Given the description of an element on the screen output the (x, y) to click on. 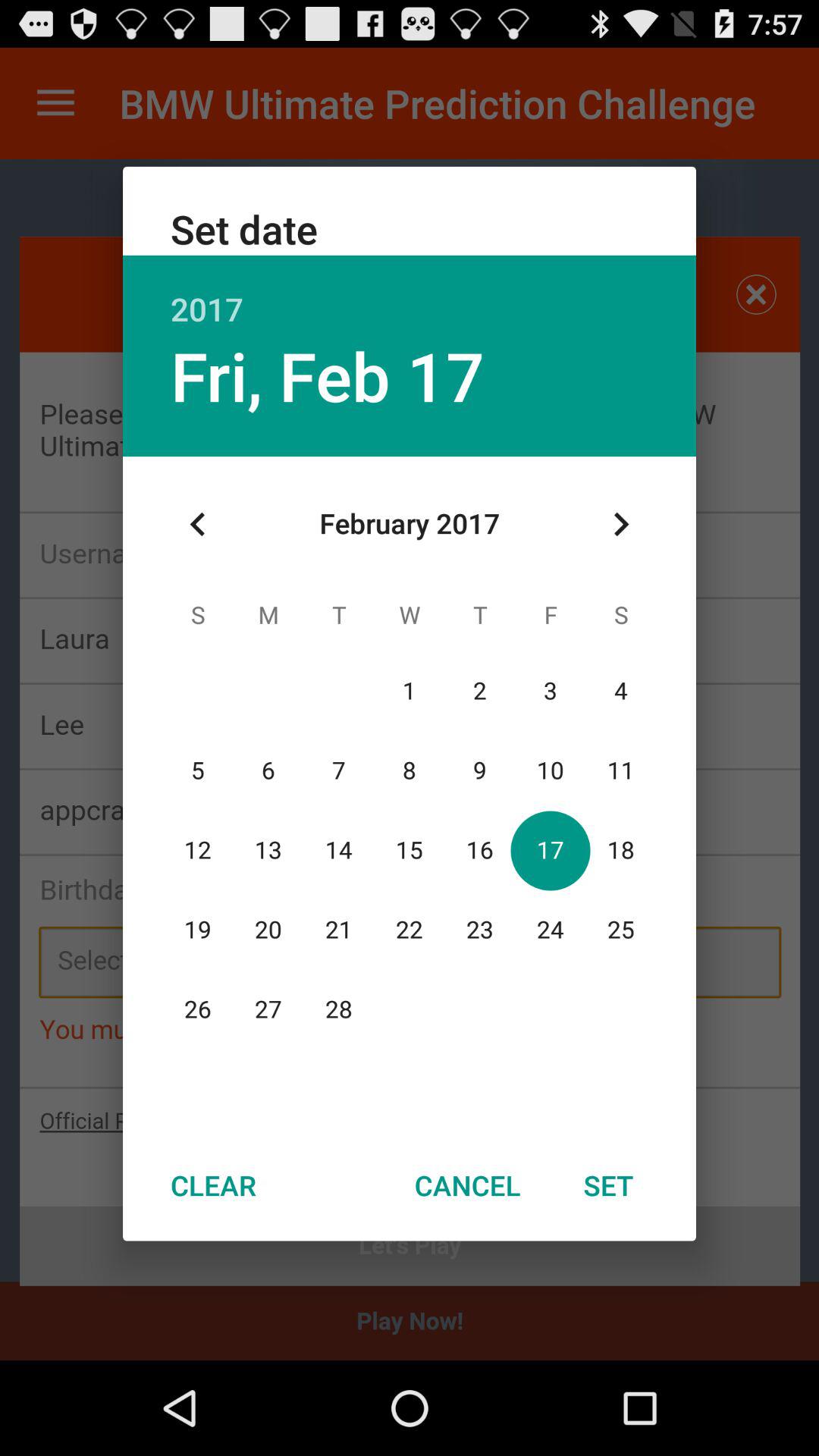
select item next to set item (467, 1185)
